Given the description of an element on the screen output the (x, y) to click on. 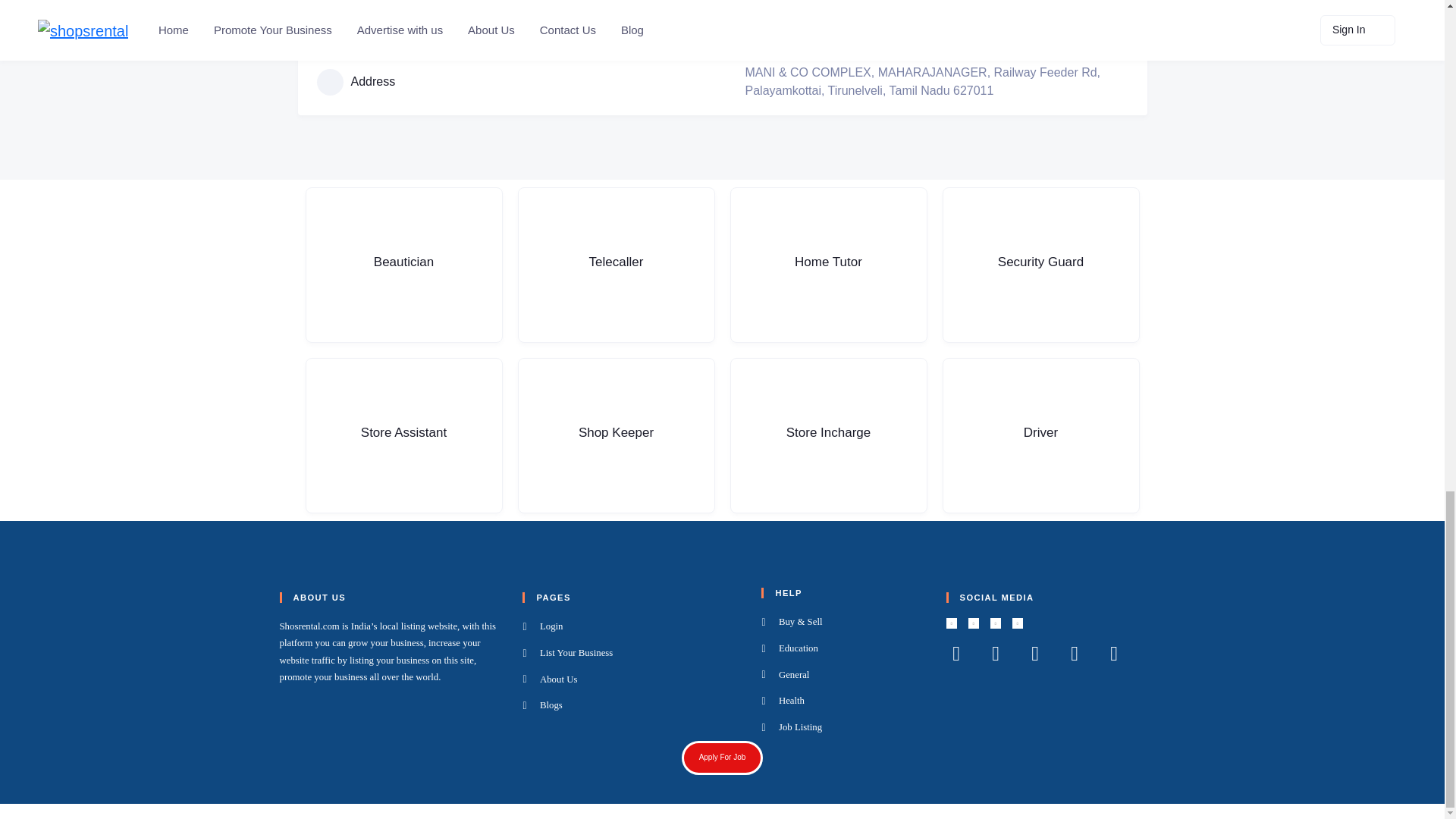
General (843, 675)
Shop Keeper (615, 435)
Store Incharge (827, 435)
Home Tutor (827, 265)
Education (843, 648)
Beautician (403, 265)
Job Listing (843, 728)
List Your Business (631, 653)
Blogs (631, 705)
Health (843, 701)
Driver (1040, 435)
About Us (631, 679)
Store Assistant (403, 435)
Telecaller (615, 265)
Login (631, 627)
